Given the description of an element on the screen output the (x, y) to click on. 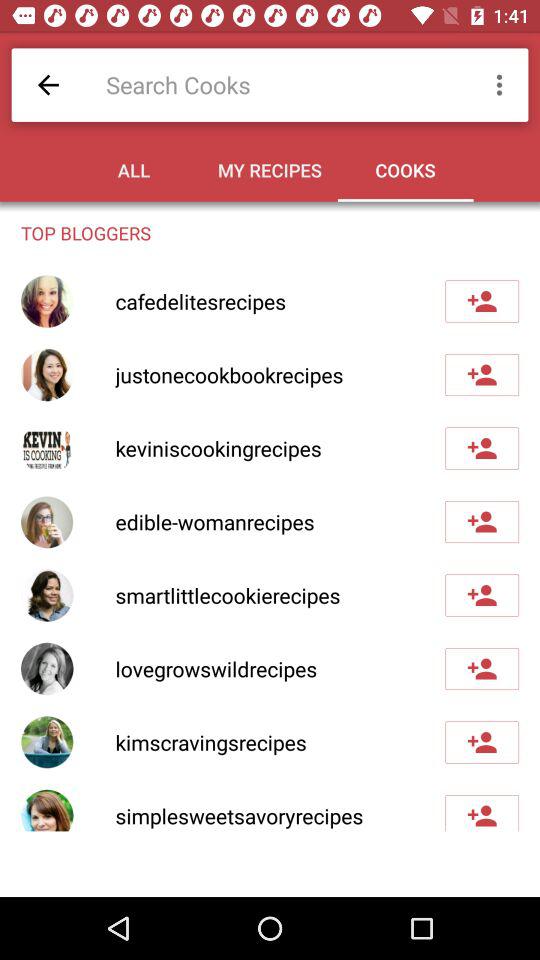
add as friend (482, 669)
